Given the description of an element on the screen output the (x, y) to click on. 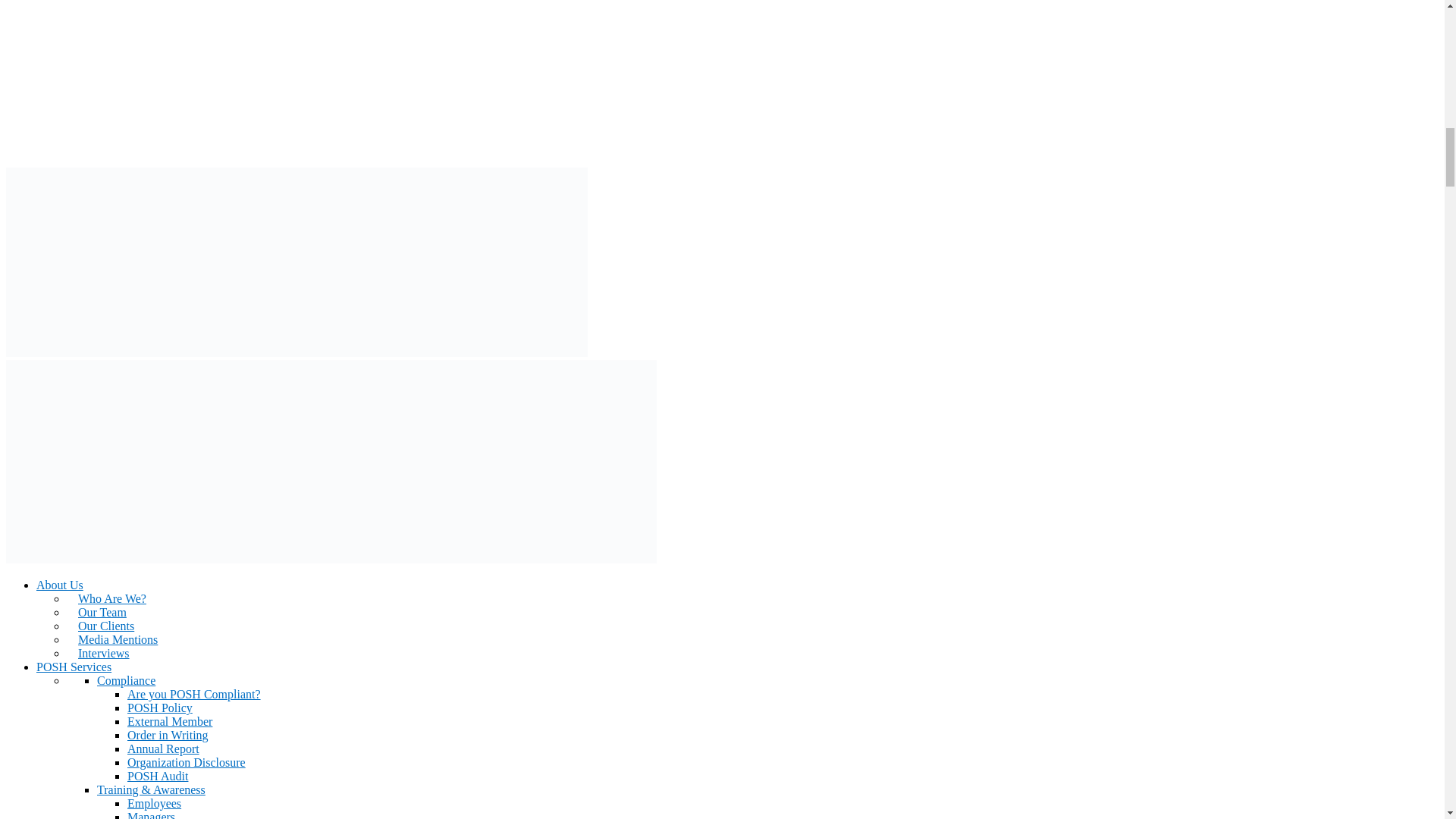
Employees (154, 802)
Interviews (97, 653)
POSH Audit (157, 775)
POSH Policy (160, 707)
About Us (59, 584)
Our Clients (99, 625)
Compliance (126, 680)
Who Are We? (106, 598)
Managers (151, 814)
Annual Report (163, 748)
